Given the description of an element on the screen output the (x, y) to click on. 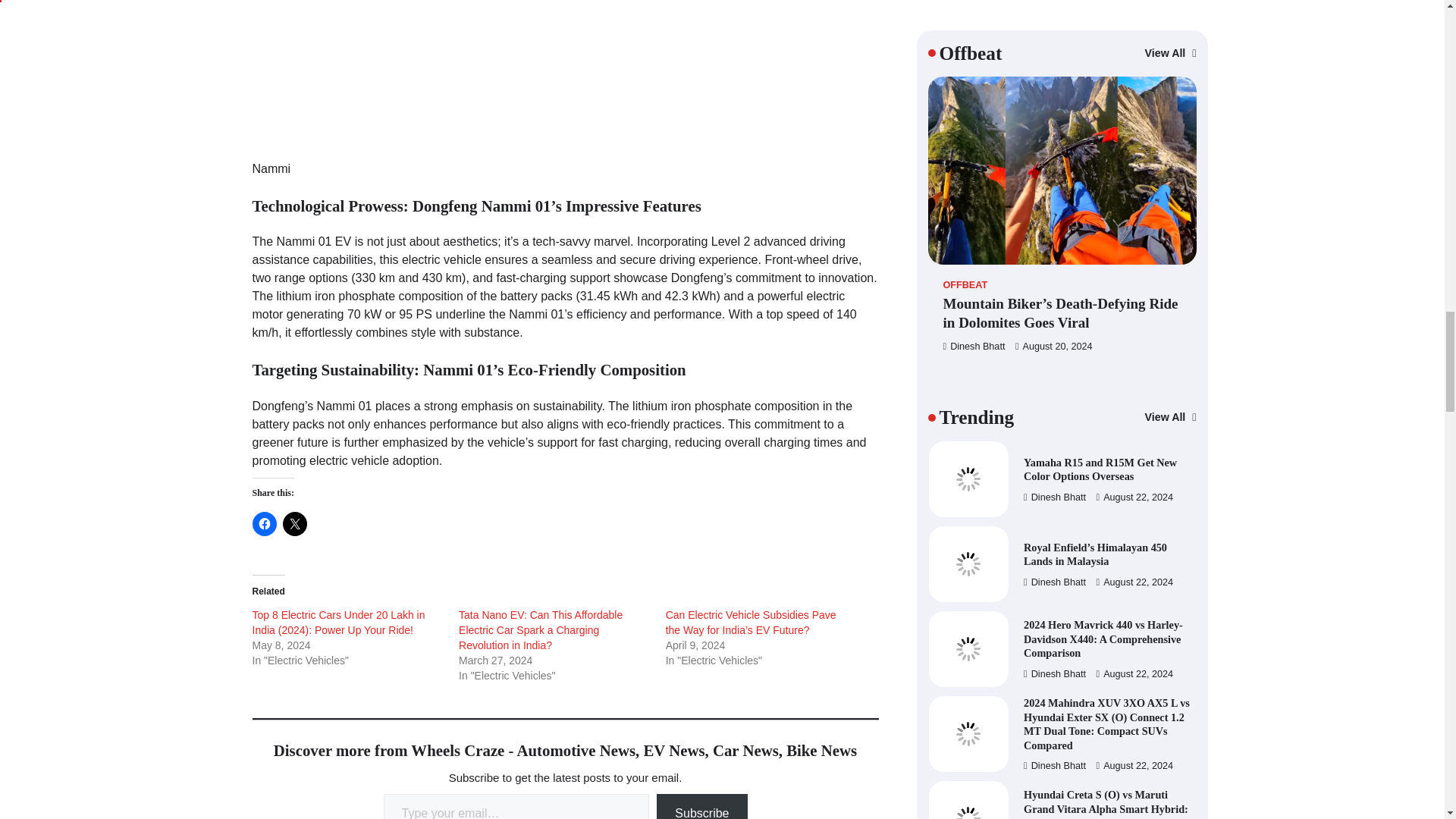
Click to share on Facebook (263, 523)
Click to share on X (293, 523)
Subscribe (701, 806)
